Given the description of an element on the screen output the (x, y) to click on. 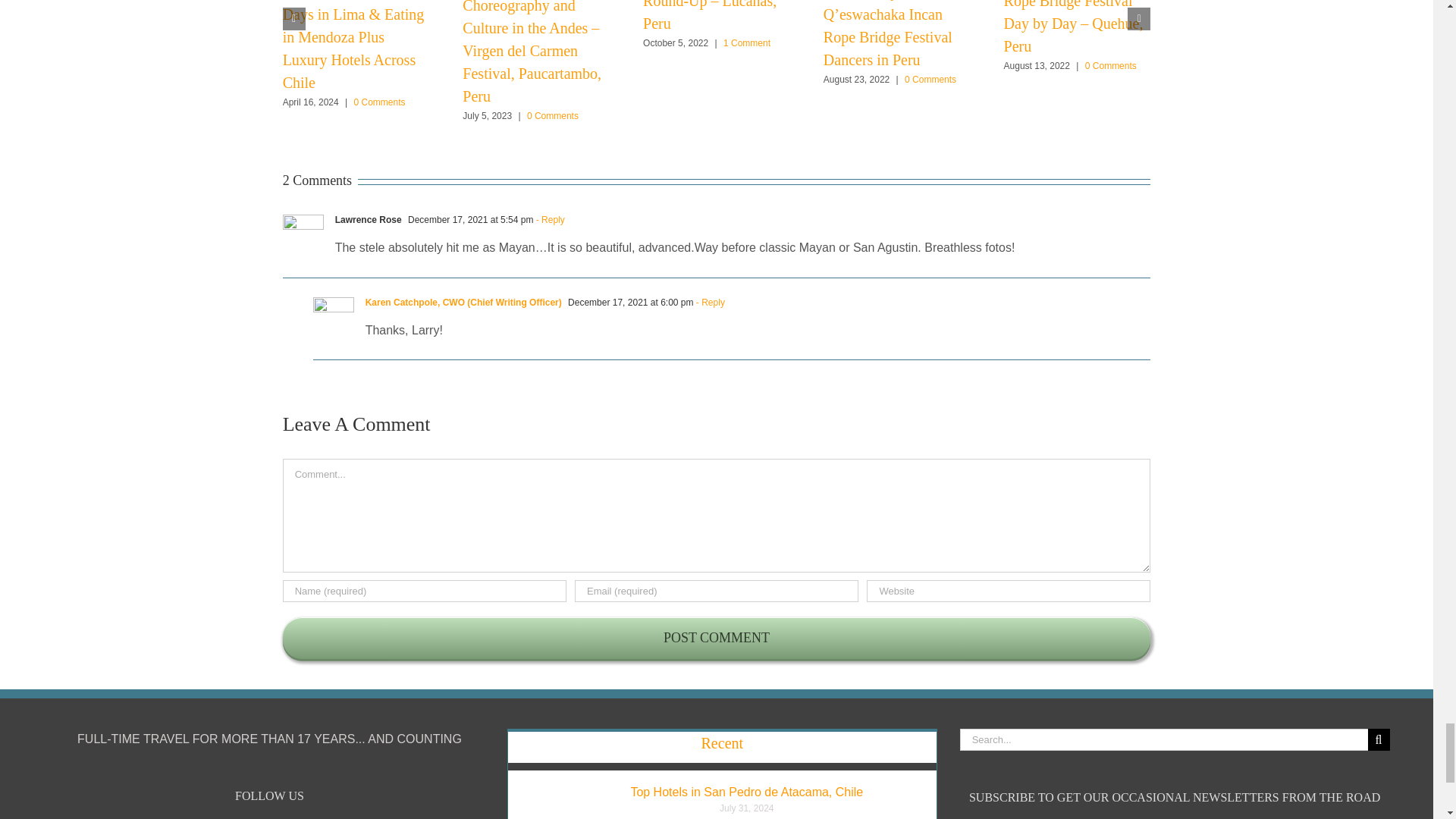
Post Comment (716, 638)
